Given the description of an element on the screen output the (x, y) to click on. 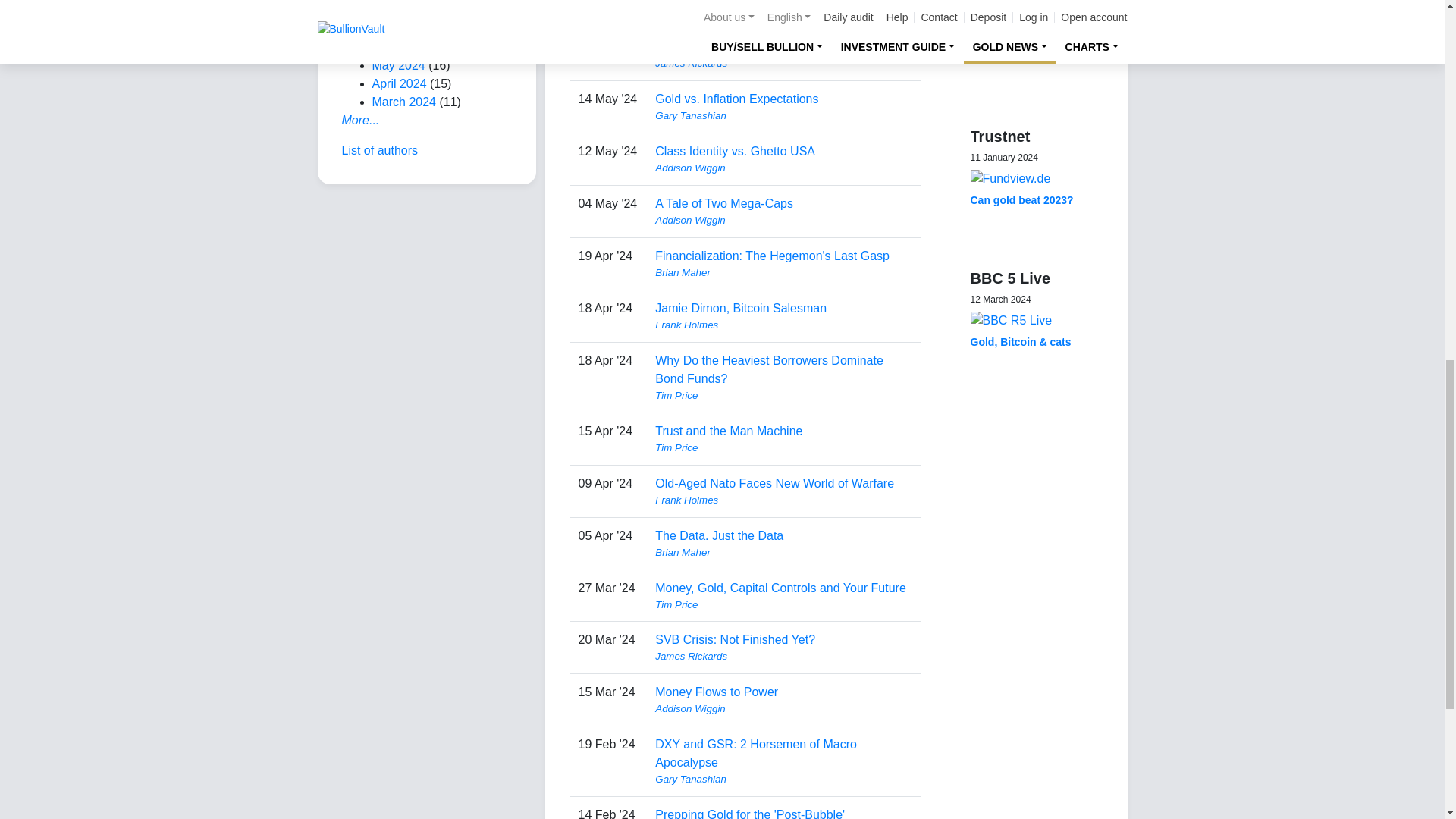
View user profile. (783, 11)
